Given the description of an element on the screen output the (x, y) to click on. 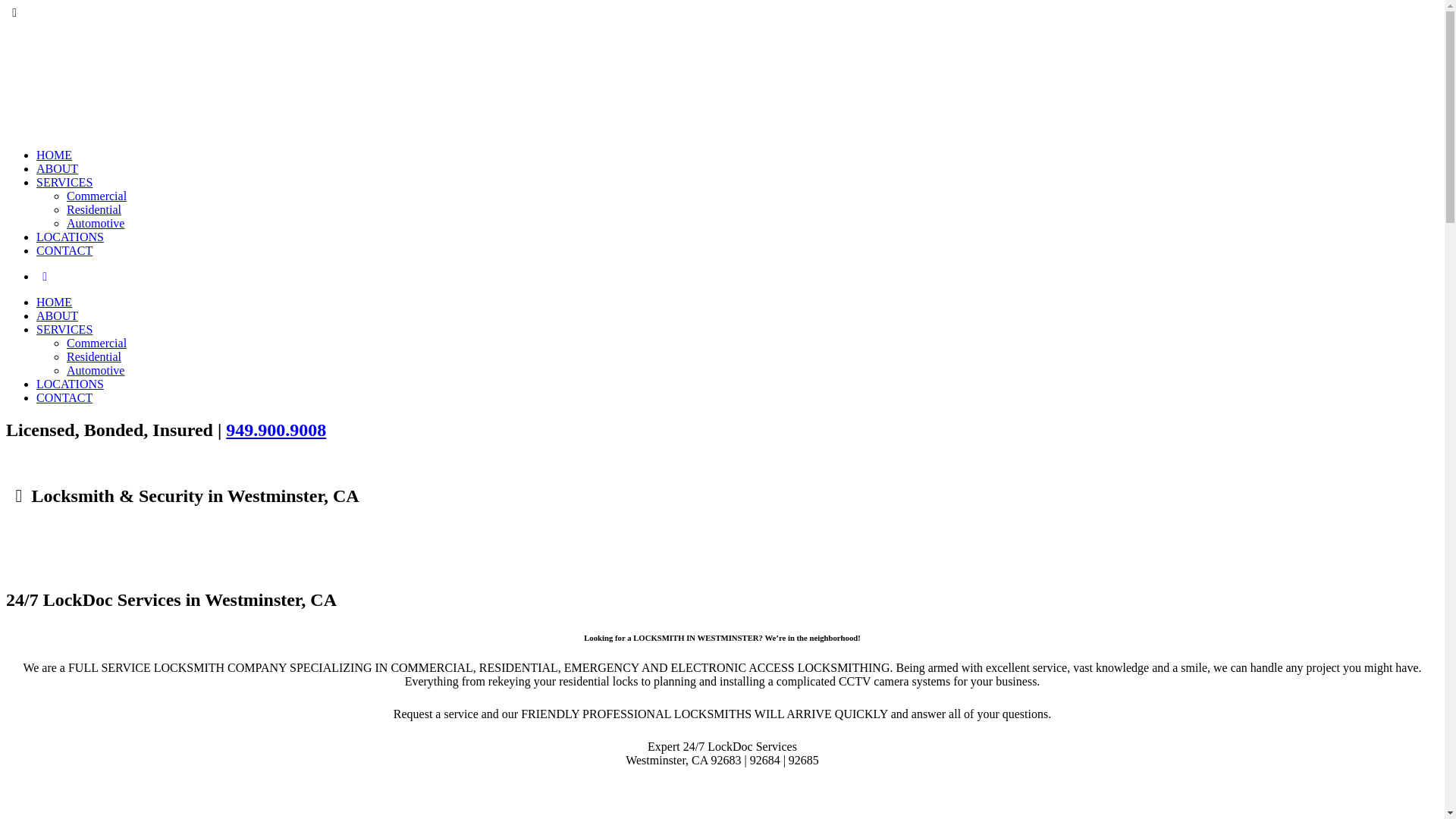
LOCATIONS Element type: text (69, 383)
Residential Element type: text (93, 356)
24/7 LockDoc Element type: hover (119, 128)
949.900.9008 Element type: text (275, 429)
Search Element type: hover (44, 275)
ABOUT Element type: text (57, 168)
CONTACT Element type: text (64, 397)
ABOUT Element type: text (57, 315)
Residential Element type: text (93, 209)
Commercial Element type: text (96, 342)
SERVICES Element type: text (64, 329)
CONTACT Element type: text (64, 250)
LOCATIONS Element type: text (69, 236)
HOME Element type: text (54, 301)
HOME Element type: text (54, 154)
Automotive Element type: text (95, 222)
Commercial Element type: text (96, 195)
Automotive Element type: text (95, 370)
SERVICES Element type: text (64, 181)
